Given the description of an element on the screen output the (x, y) to click on. 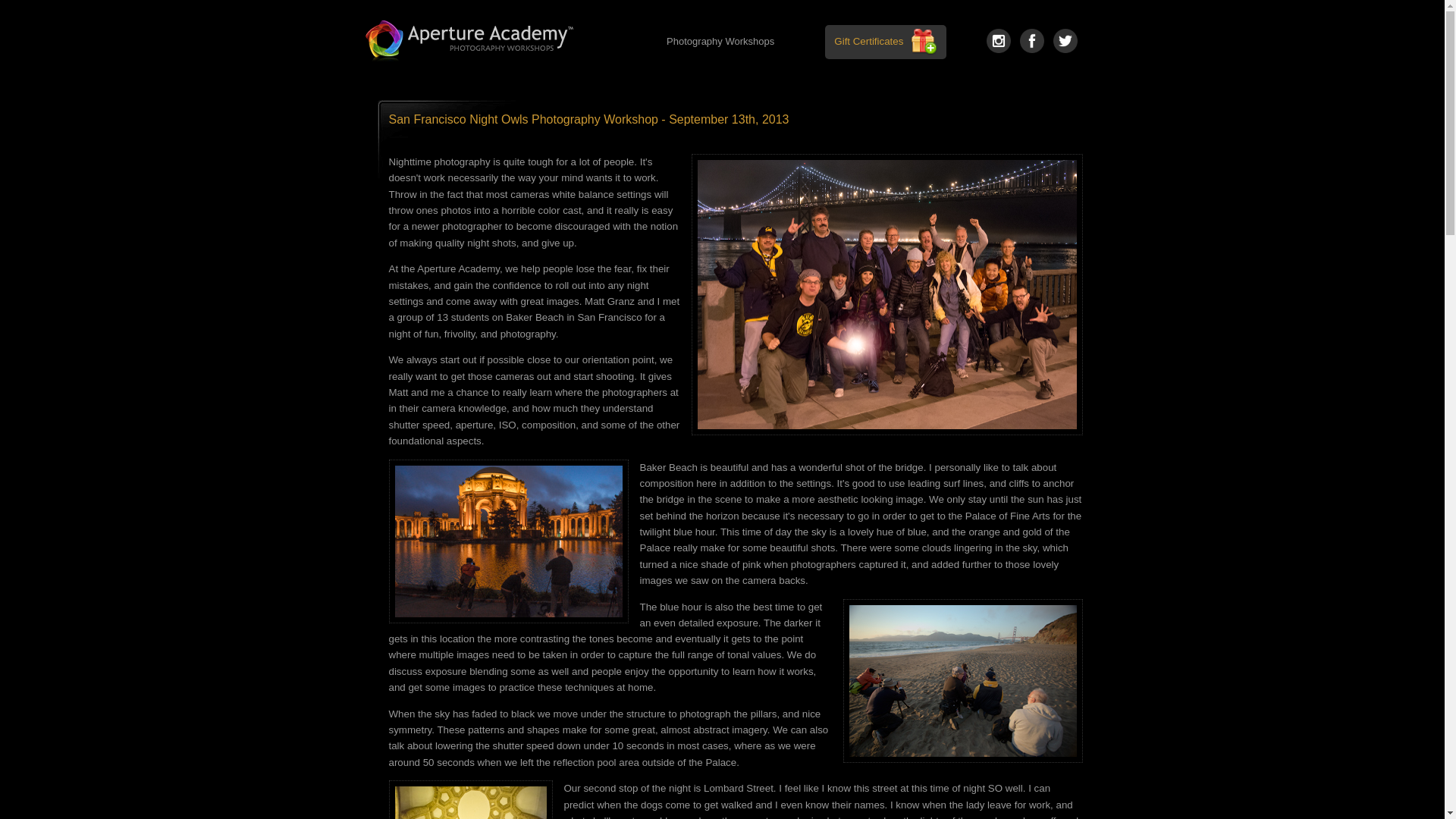
Photography Workshops (720, 41)
Gift Certificates (868, 41)
